Given the description of an element on the screen output the (x, y) to click on. 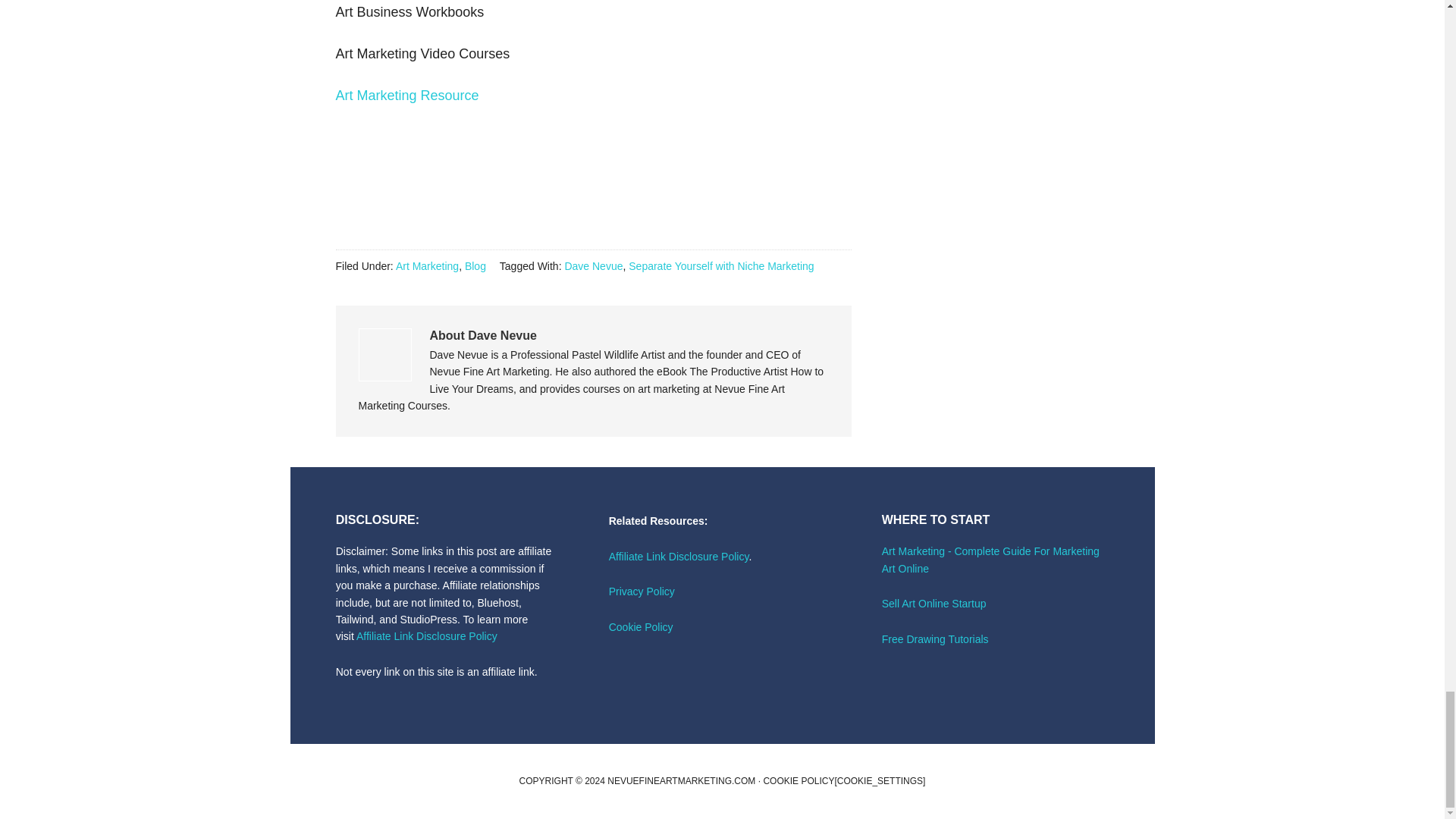
Art Marketing (427, 265)
Separate Yourself with Niche Marketing (720, 265)
Dave Nevue (593, 265)
Blog (475, 265)
Art Marketing Resource (406, 95)
